Given the description of an element on the screen output the (x, y) to click on. 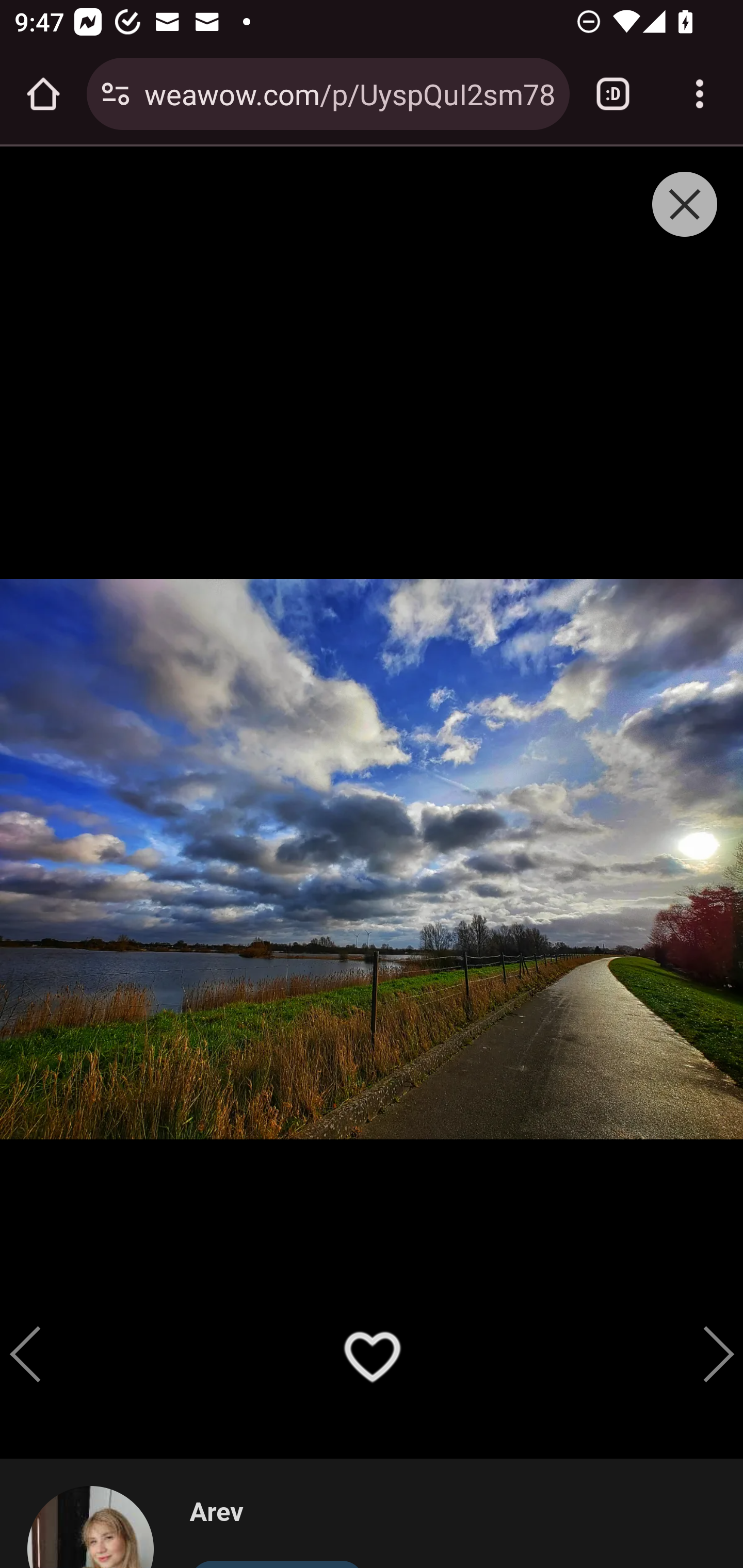
Open the home page (43, 93)
Connection is secure (115, 93)
Switch or close tabs (612, 93)
Customize and control Google Chrome (699, 93)
weawow.com/p/UyspQuI2sm782543 (349, 92)
lE5yt3R8qu782545 (109, 1335)
9fXNF7dy0Q782535 (635, 1335)
Arev (99, 1525)
Arev (275, 1513)
